Given the description of an element on the screen output the (x, y) to click on. 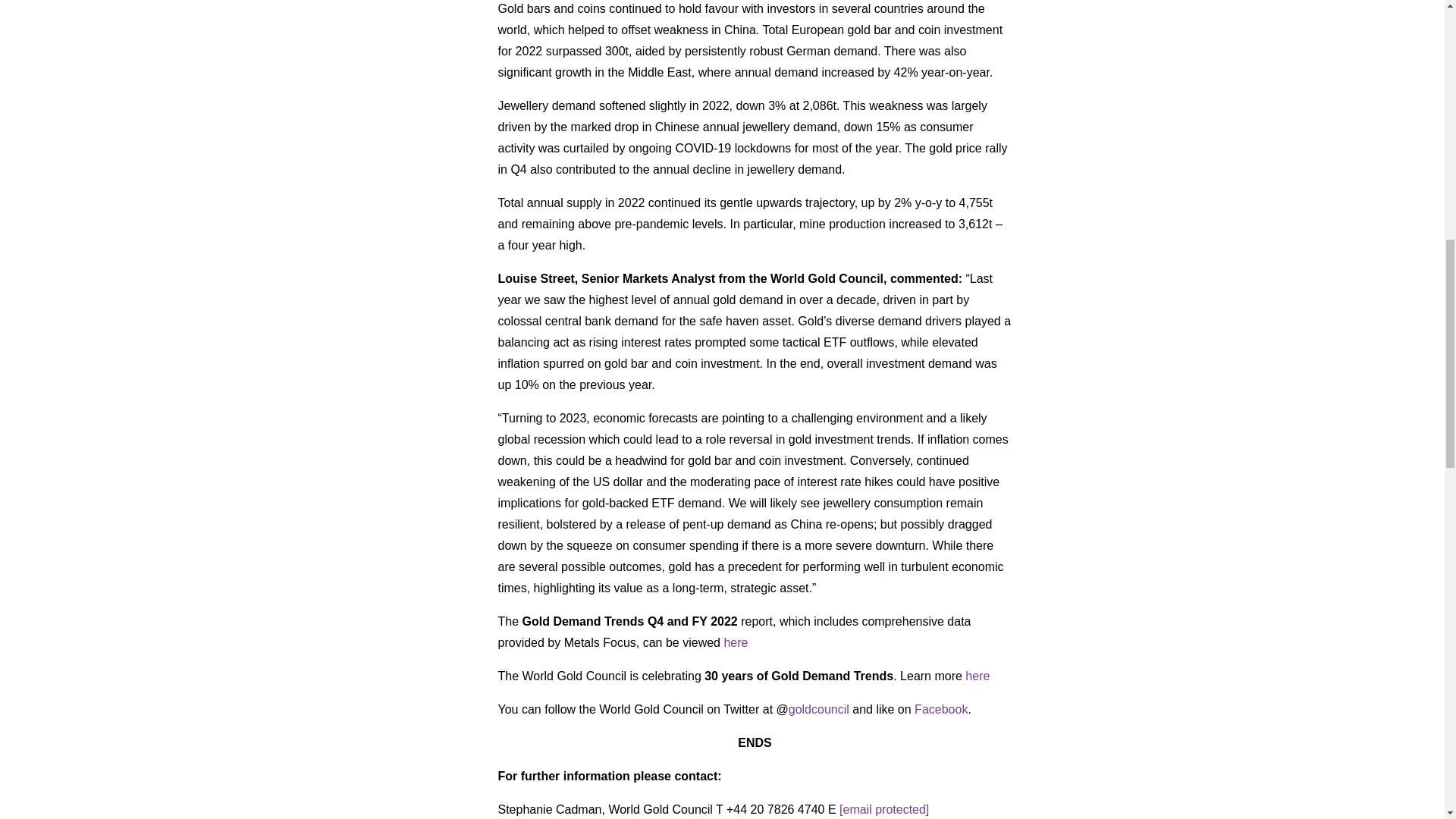
goldcouncil (818, 708)
here (735, 642)
here (977, 675)
Facebook (941, 708)
